Given the description of an element on the screen output the (x, y) to click on. 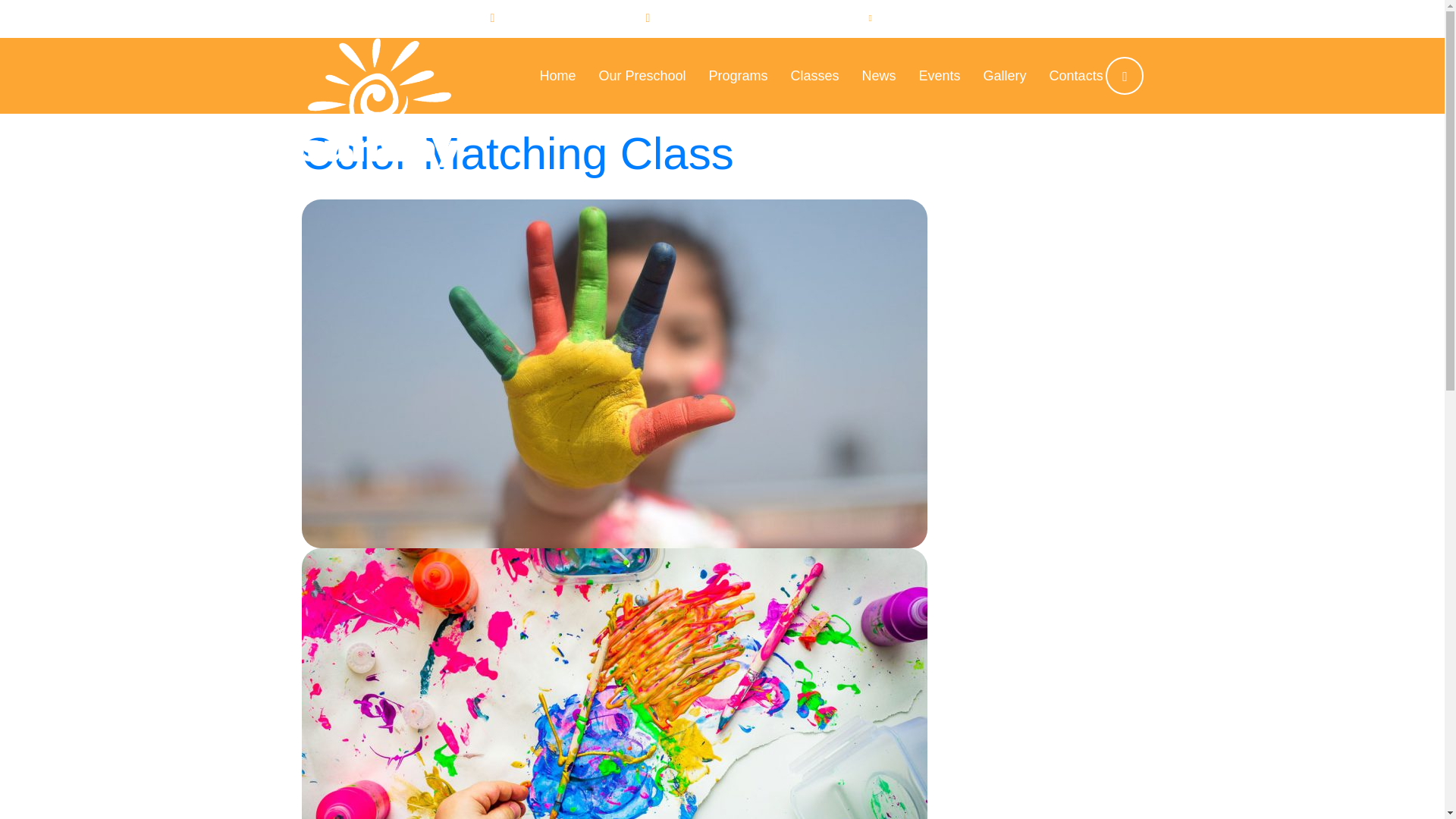
Programs (737, 67)
Our Preschool (641, 67)
Sun Way Pre School (381, 75)
